Given the description of an element on the screen output the (x, y) to click on. 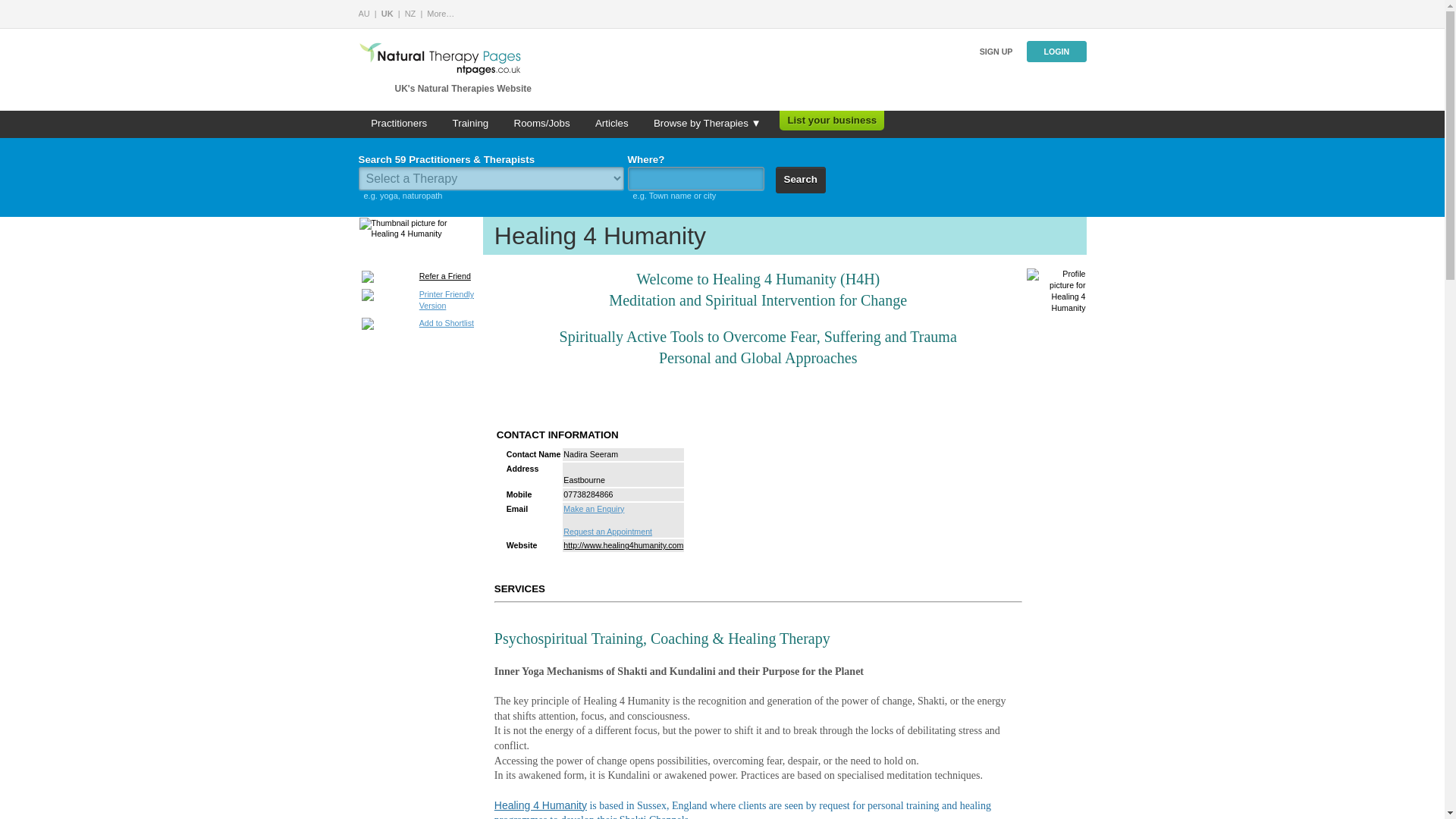
AU (363, 13)
List your business (830, 120)
LOGIN (1056, 51)
Training (469, 124)
Natural Therapy Pages (440, 13)
Training (469, 124)
Articles (611, 124)
Practitioners (398, 124)
SIGN UP (996, 51)
Natural Therapy Pages AU (363, 13)
Practitioners (398, 124)
Natural Therapy Pages NZ (410, 13)
NZ (410, 13)
